Given the description of an element on the screen output the (x, y) to click on. 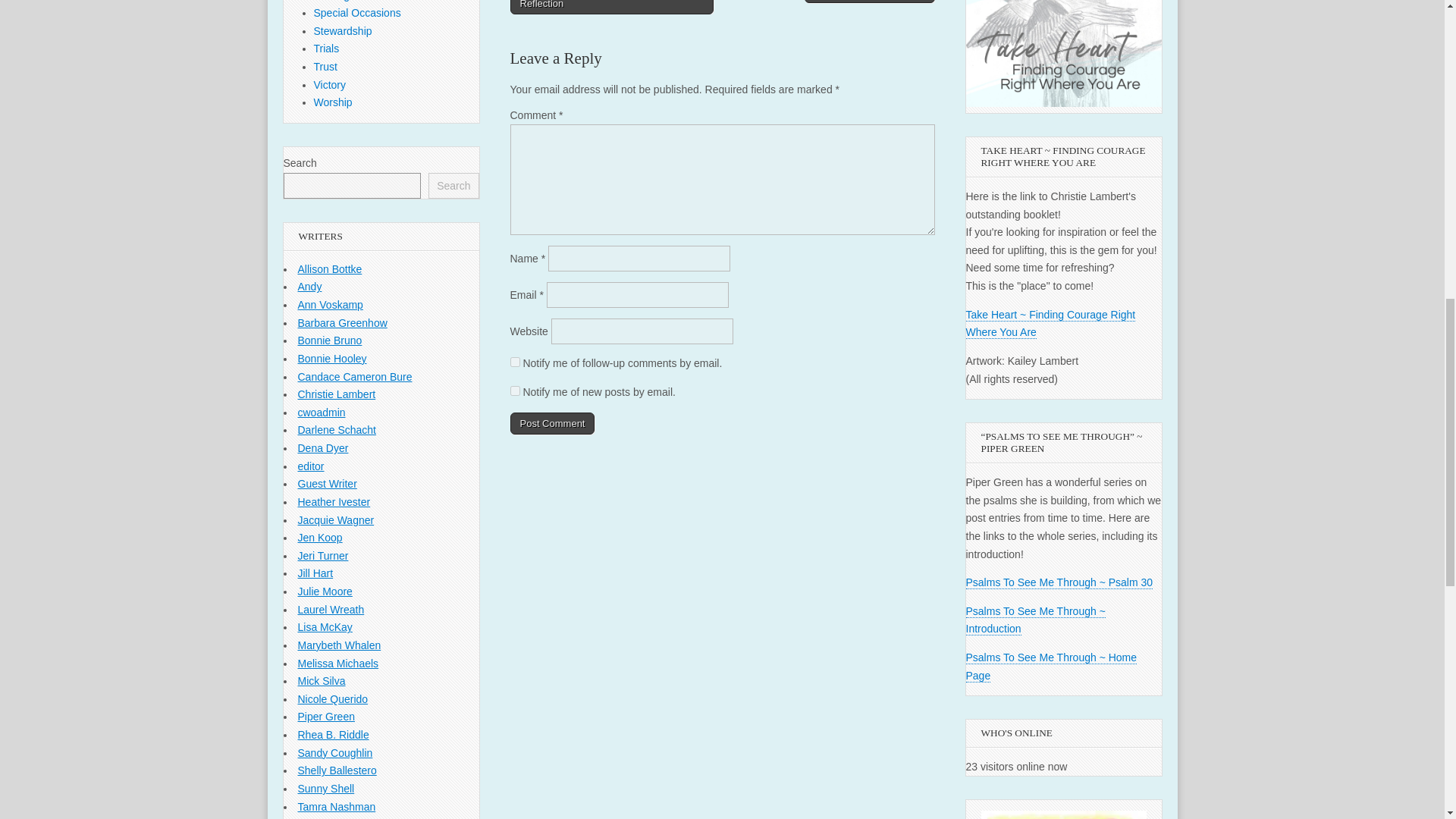
Post Comment (551, 423)
Posts by Candace Cameron Bure (354, 377)
Posts by Bonnie Bruno (329, 340)
subscribe (514, 390)
Posts by Allison Bottke (329, 268)
Posts by Andy (309, 286)
subscribe (514, 361)
Posts by cwoadmin (321, 412)
Posts by Ann Voskamp (329, 304)
Posts by Christie Lambert (336, 394)
